Given the description of an element on the screen output the (x, y) to click on. 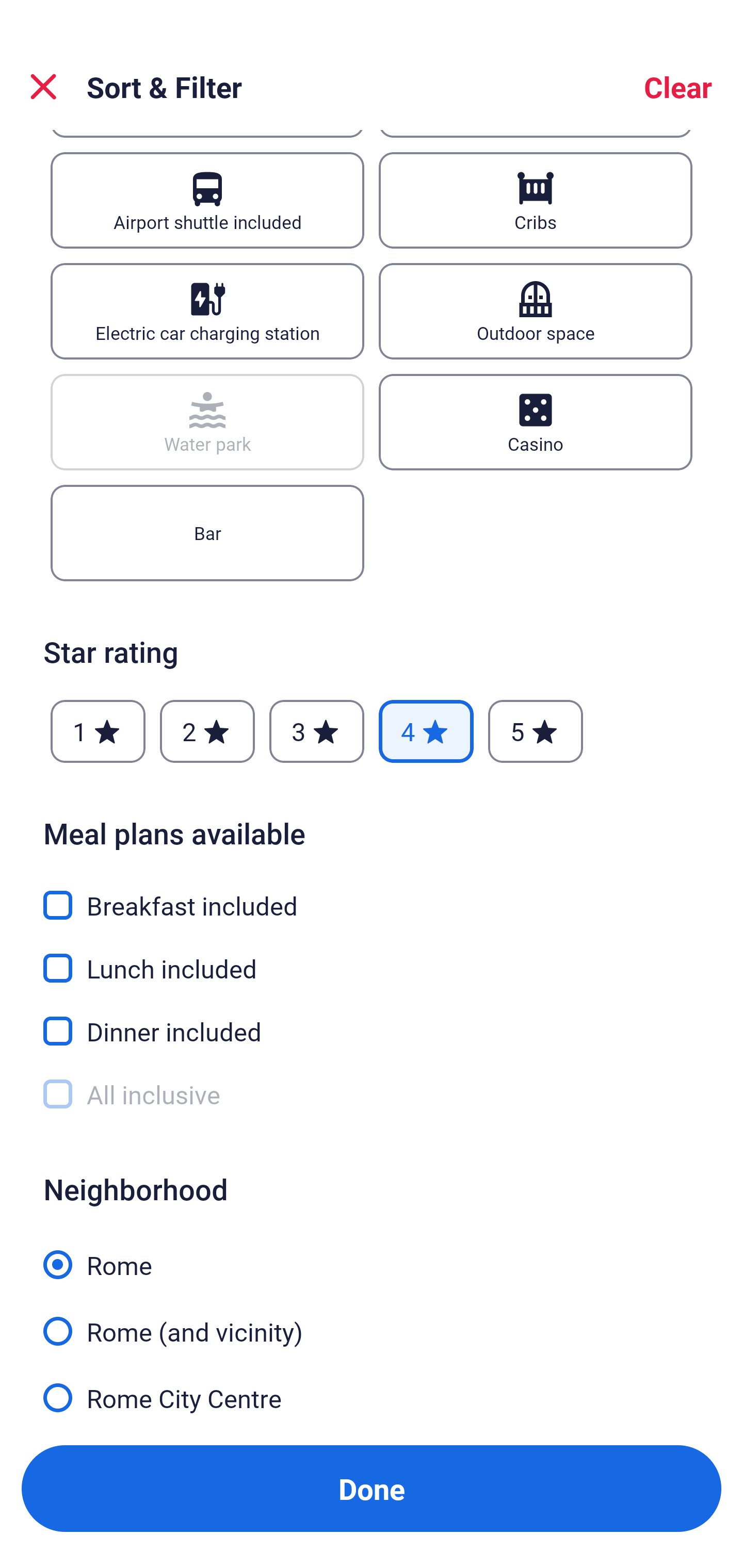
Close Sort and Filter (43, 86)
Clear (677, 86)
Airport shuttle included (207, 200)
Cribs (535, 200)
Electric car charging station (207, 311)
Outdoor space (535, 311)
Water park (207, 421)
Casino (535, 421)
Bar (207, 532)
1 (97, 731)
2 (206, 731)
3 (316, 731)
4 (426, 731)
5 (535, 731)
Breakfast included, Breakfast included (371, 893)
Lunch included, Lunch included (371, 956)
Dinner included, Dinner included (371, 1018)
All inclusive, All inclusive (371, 1094)
Rome (and vicinity) (371, 1320)
Rome City Centre (371, 1396)
Apply and close Sort and Filter Done (371, 1488)
